Given the description of an element on the screen output the (x, y) to click on. 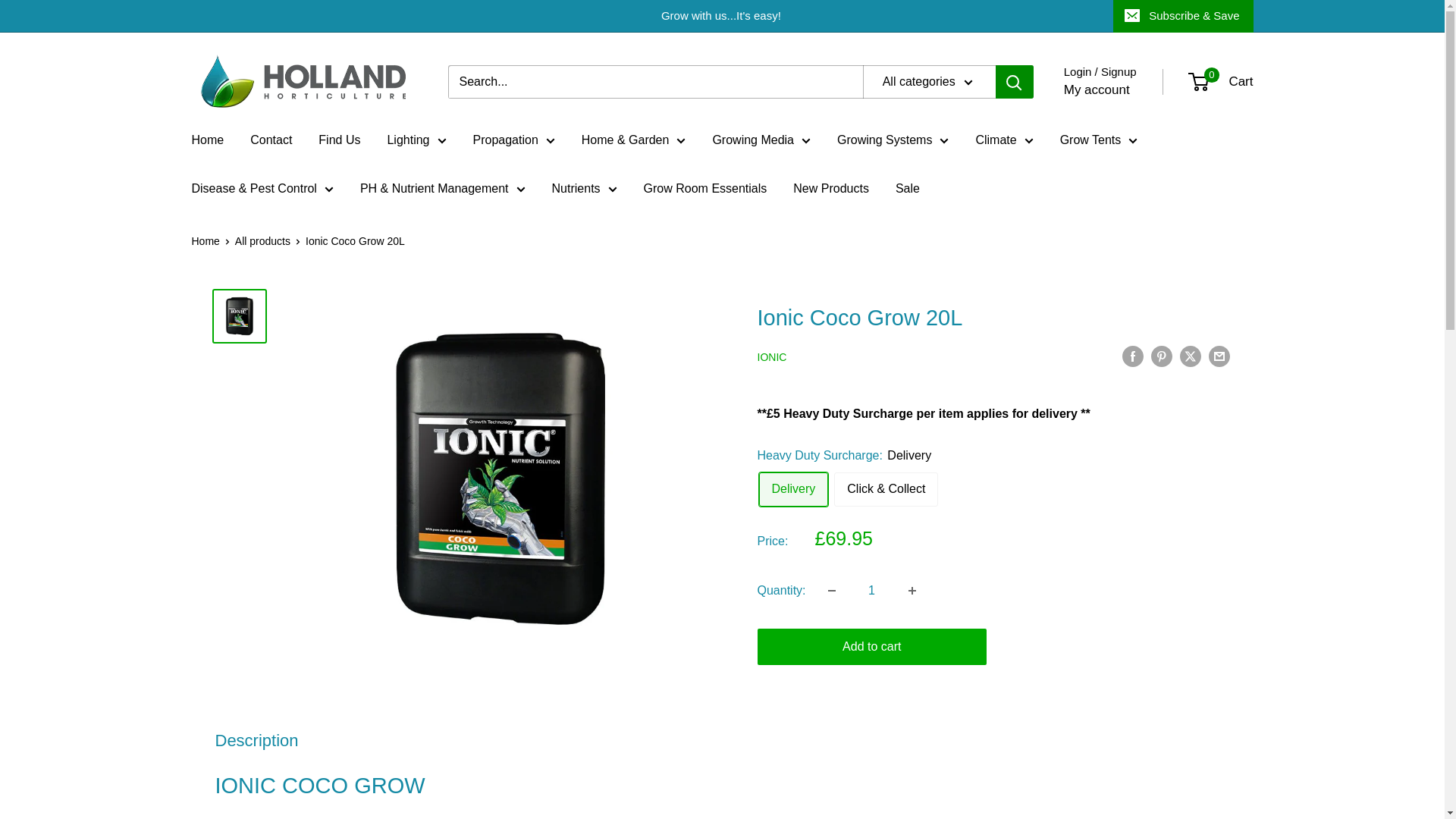
Increase quantity by 1 (912, 590)
Delivery (793, 489)
Decrease quantity by 1 (831, 590)
1 (871, 590)
